Given the description of an element on the screen output the (x, y) to click on. 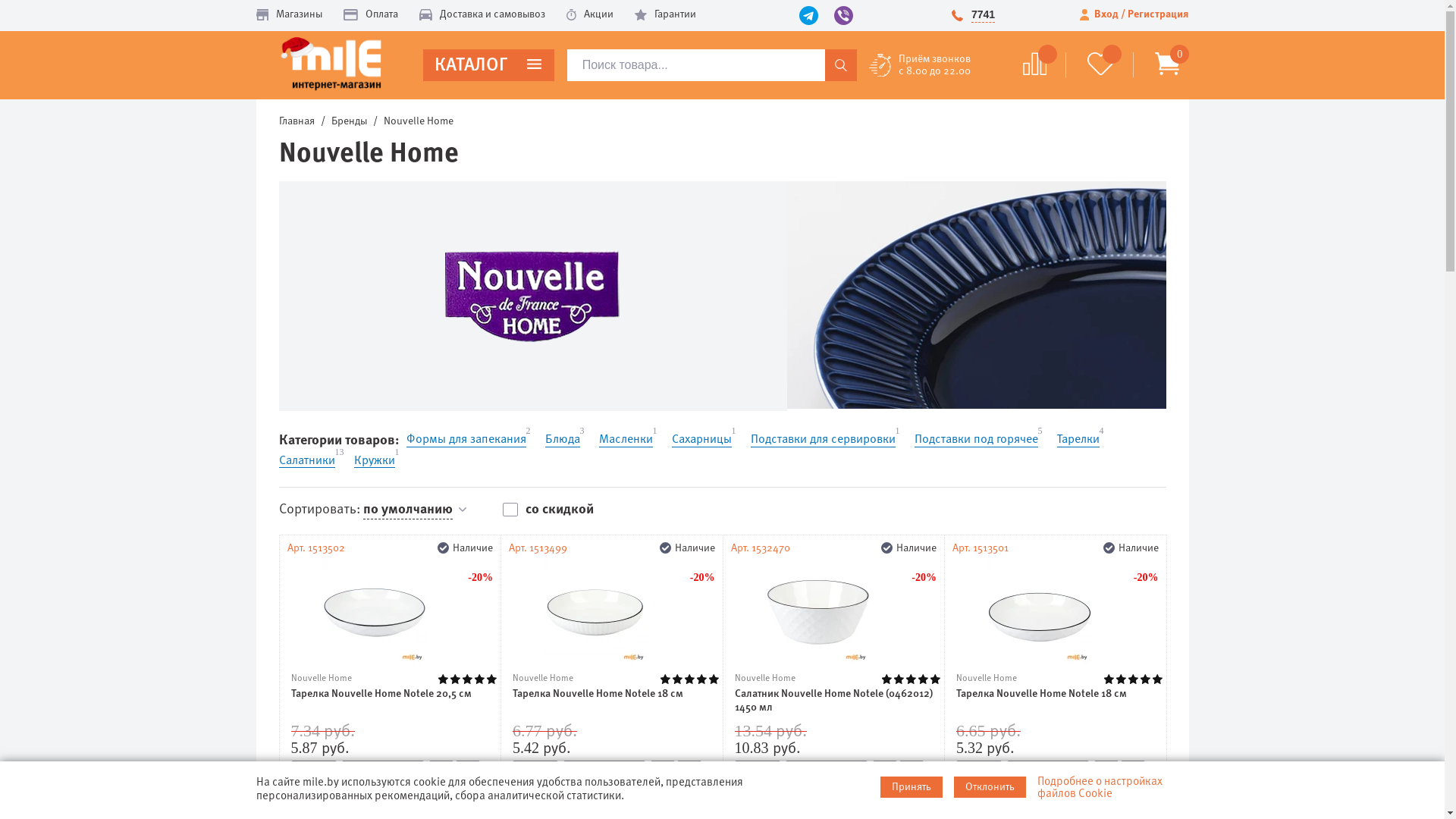
0 Element type: text (1161, 64)
7741 Element type: text (982, 14)
